Given the description of an element on the screen output the (x, y) to click on. 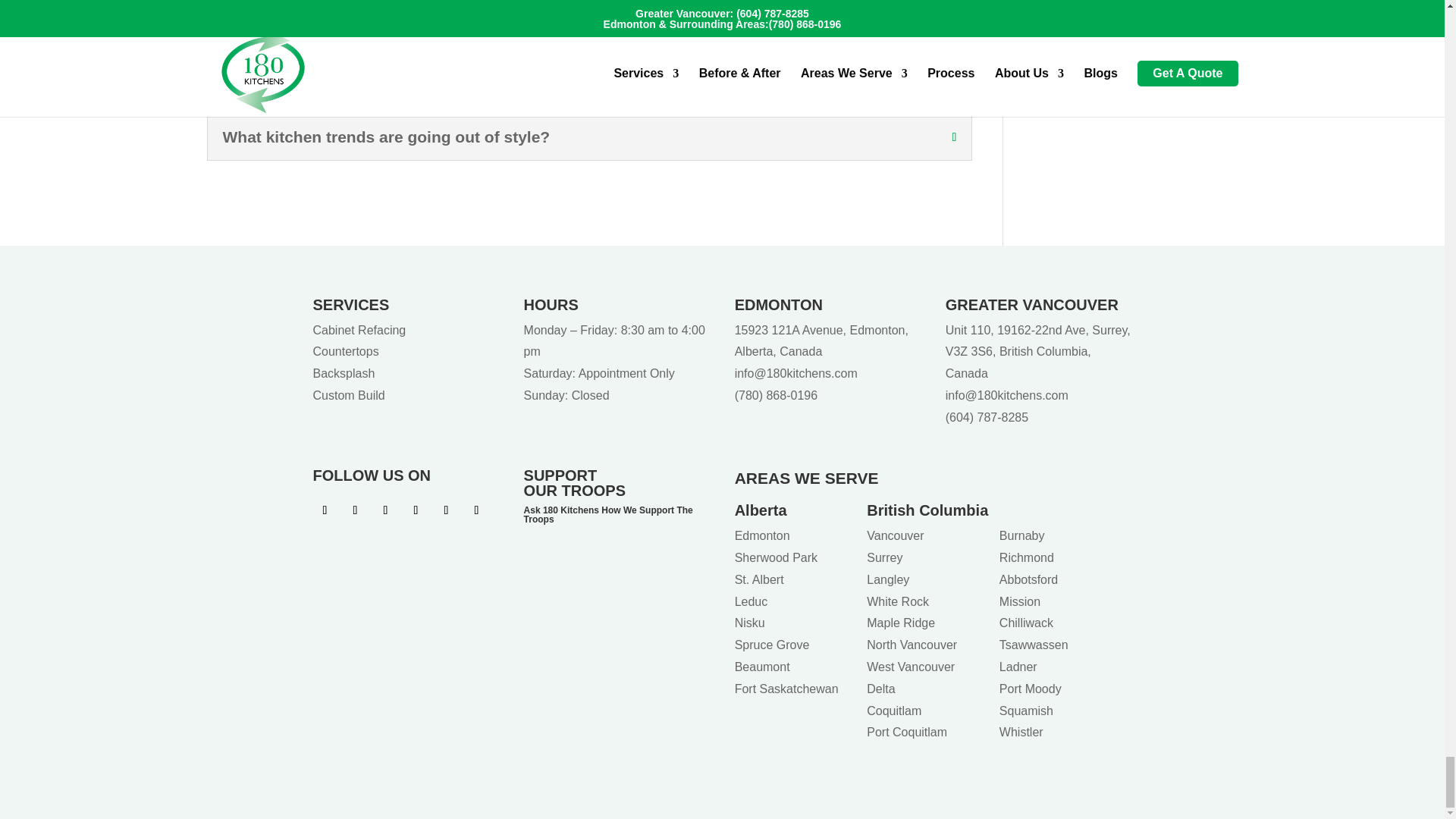
Follow on Youtube (384, 509)
Follow on Instagram (354, 509)
Follow on Facebook (324, 509)
Follow on LinkedIn (415, 509)
